Given the description of an element on the screen output the (x, y) to click on. 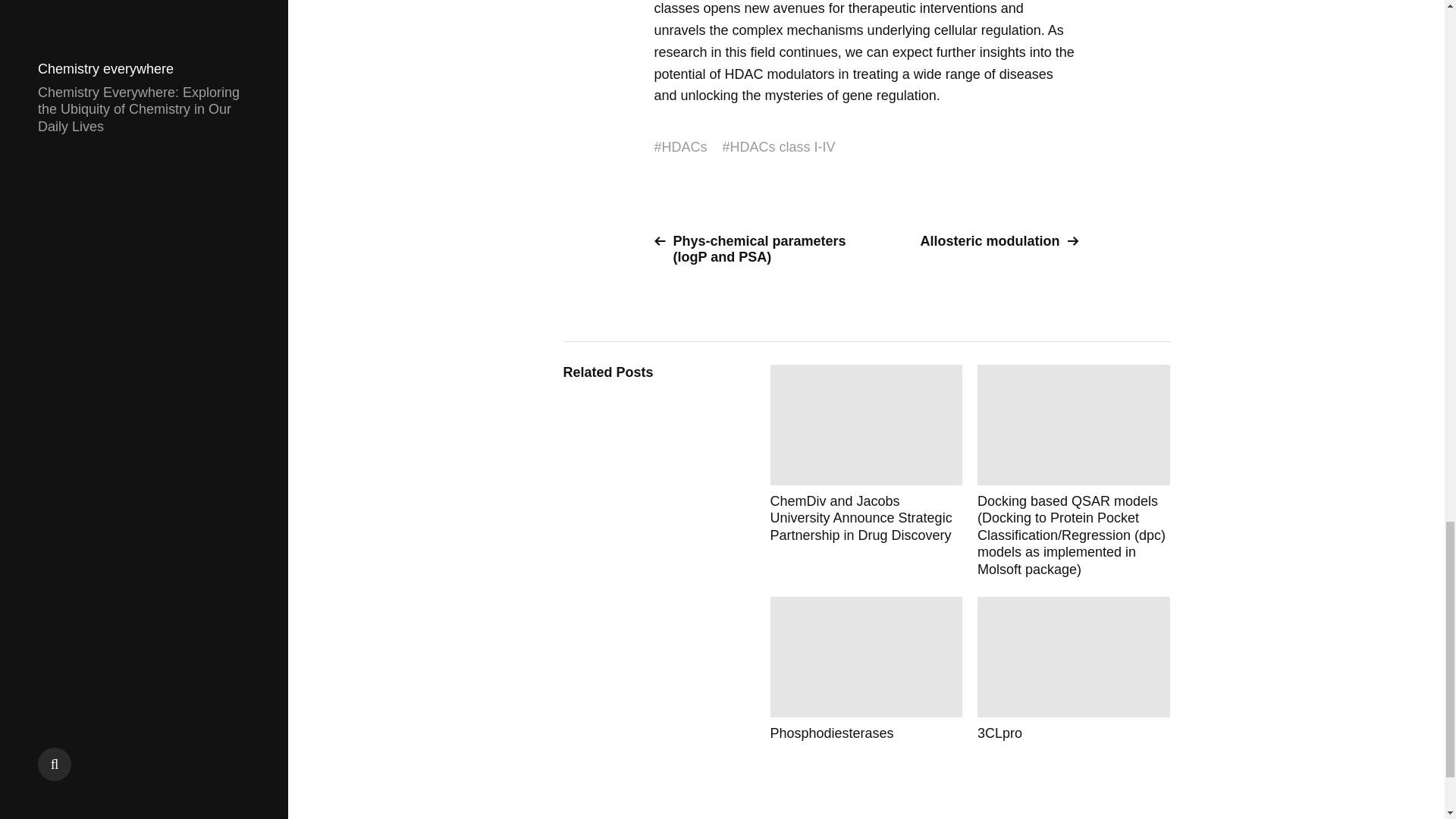
HDACs (684, 147)
3CLpro (1073, 669)
Allosteric modulation (977, 241)
HDACs class I-IV (782, 147)
Phosphodiesterases (866, 669)
